Given the description of an element on the screen output the (x, y) to click on. 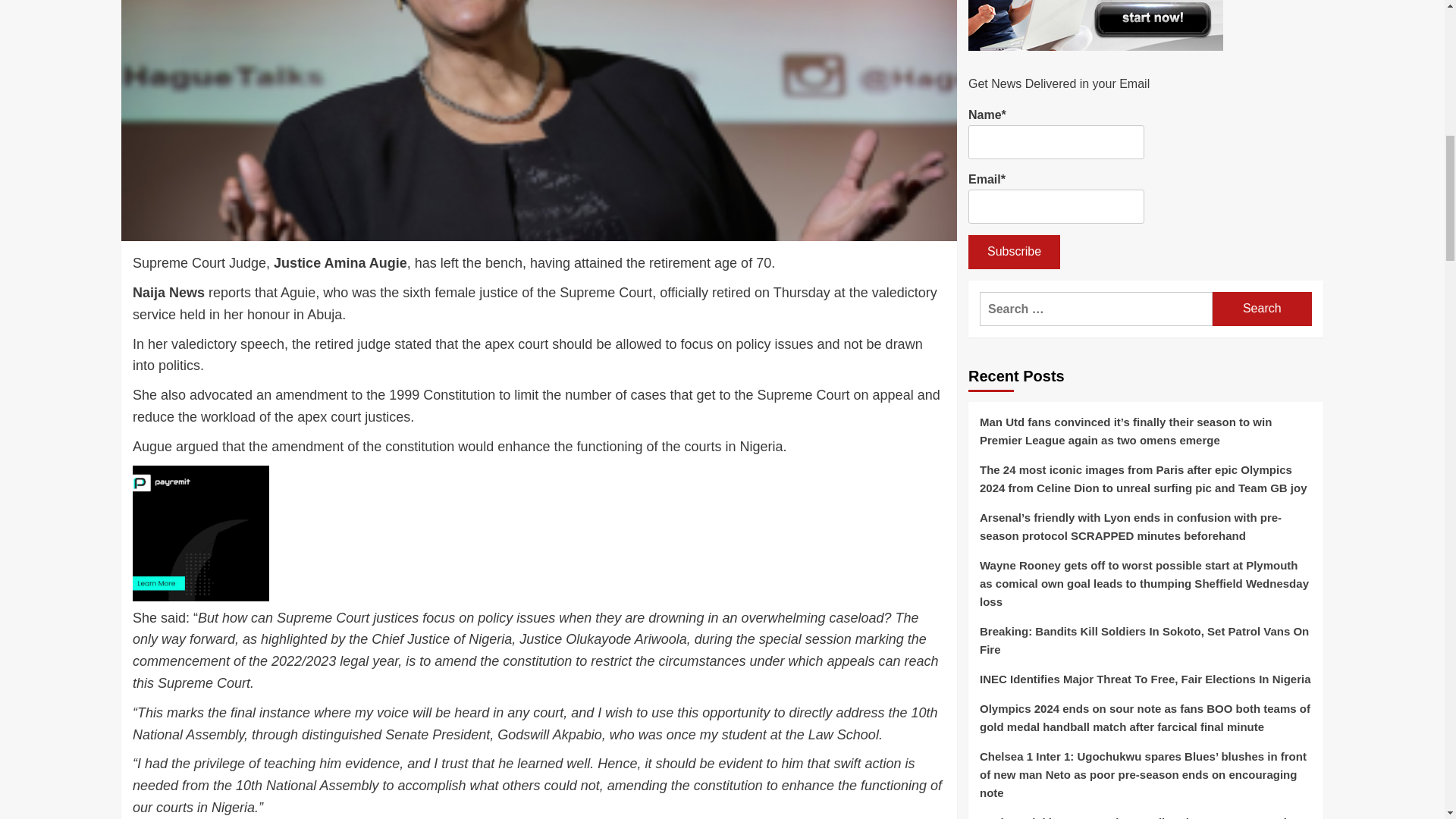
Subscribe (1013, 252)
Search (1261, 308)
Search (1261, 308)
Search (1261, 308)
Subscribe (1013, 252)
